Given the description of an element on the screen output the (x, y) to click on. 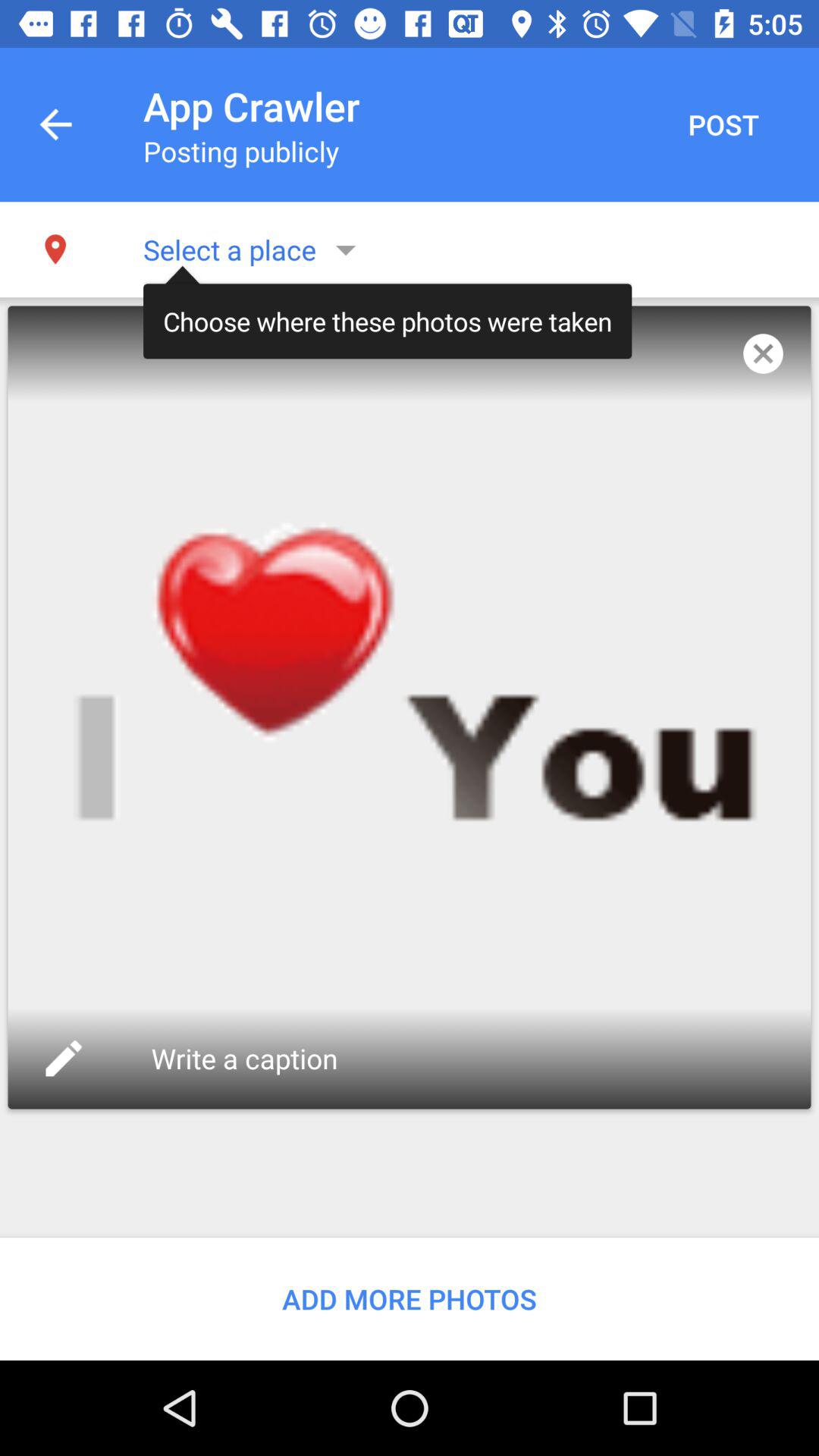
turn on the app to the right of the app crawler app (723, 124)
